Given the description of an element on the screen output the (x, y) to click on. 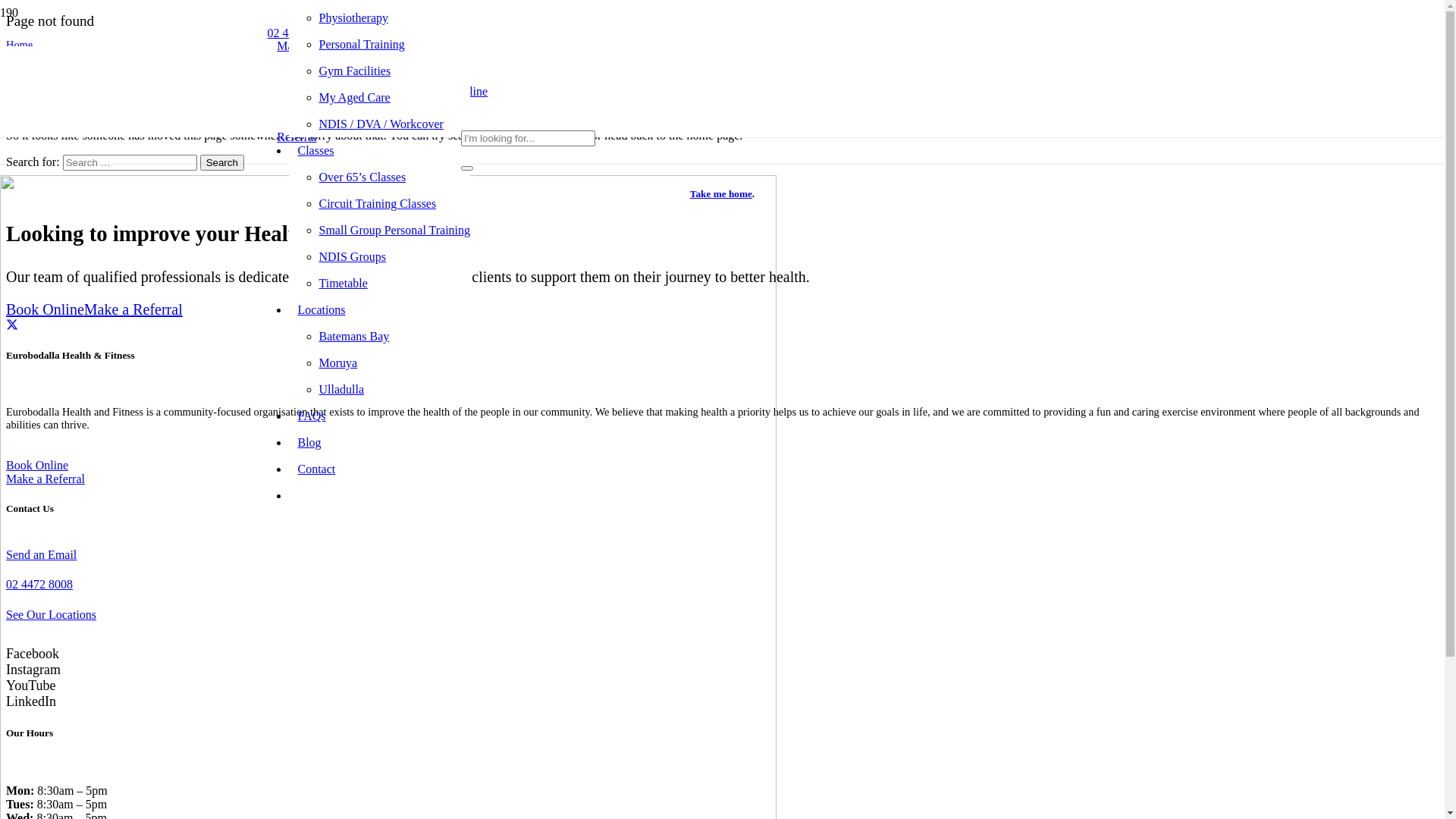
My Aged Care Element type: text (353, 97)
Circuit Training Classes Element type: text (377, 203)
Search Element type: text (222, 162)
02 4472 8008 Element type: text (299, 32)
Moruya Element type: text (337, 362)
Book Online Element type: text (37, 464)
Personal Training Element type: text (361, 43)
Contact Element type: text (316, 468)
NDIS Groups Element type: text (351, 256)
Take me home Element type: text (721, 193)
Make a Referral Element type: text (45, 478)
Ulladulla Element type: text (341, 388)
Blog Element type: text (308, 442)
NDIS / DVA / Workcover Element type: text (380, 123)
Physiotherapy Element type: text (353, 17)
Locations Element type: text (321, 309)
Send an Email Element type: text (722, 554)
See Our Locations Element type: text (722, 614)
Classes Element type: text (315, 150)
Gym Facilities Element type: text (354, 70)
Small Group Personal Training Element type: text (394, 229)
Timetable Element type: text (342, 282)
FAQs Element type: text (311, 415)
Batemans Bay Element type: text (353, 335)
Book Online Element type: text (45, 309)
Book Online Element type: text (456, 91)
02 4472 8008 Element type: text (722, 584)
Make a Referral Element type: text (133, 309)
Oops.. Looks like something has moved! Element type: text (722, 104)
Tweet this Element type: hover (12, 325)
Home Element type: text (19, 44)
